Given the description of an element on the screen output the (x, y) to click on. 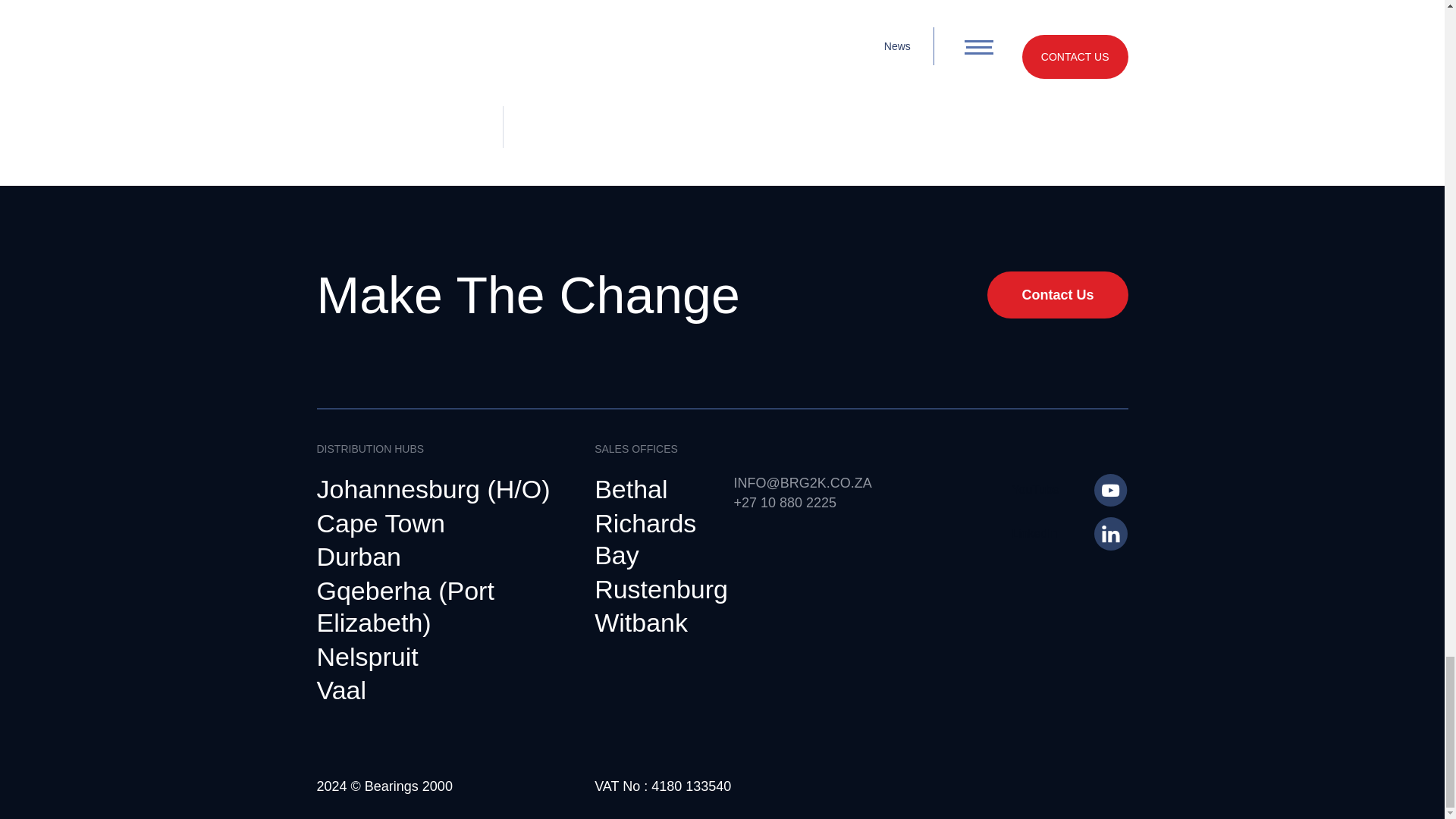
Richards Bay (652, 539)
Bethal (630, 489)
Contact Us (1056, 294)
Rustenburg (661, 590)
Cape Town (381, 523)
Witbank (640, 623)
Vaal (341, 691)
Nelspruit (368, 657)
Durban (359, 557)
